Given the description of an element on the screen output the (x, y) to click on. 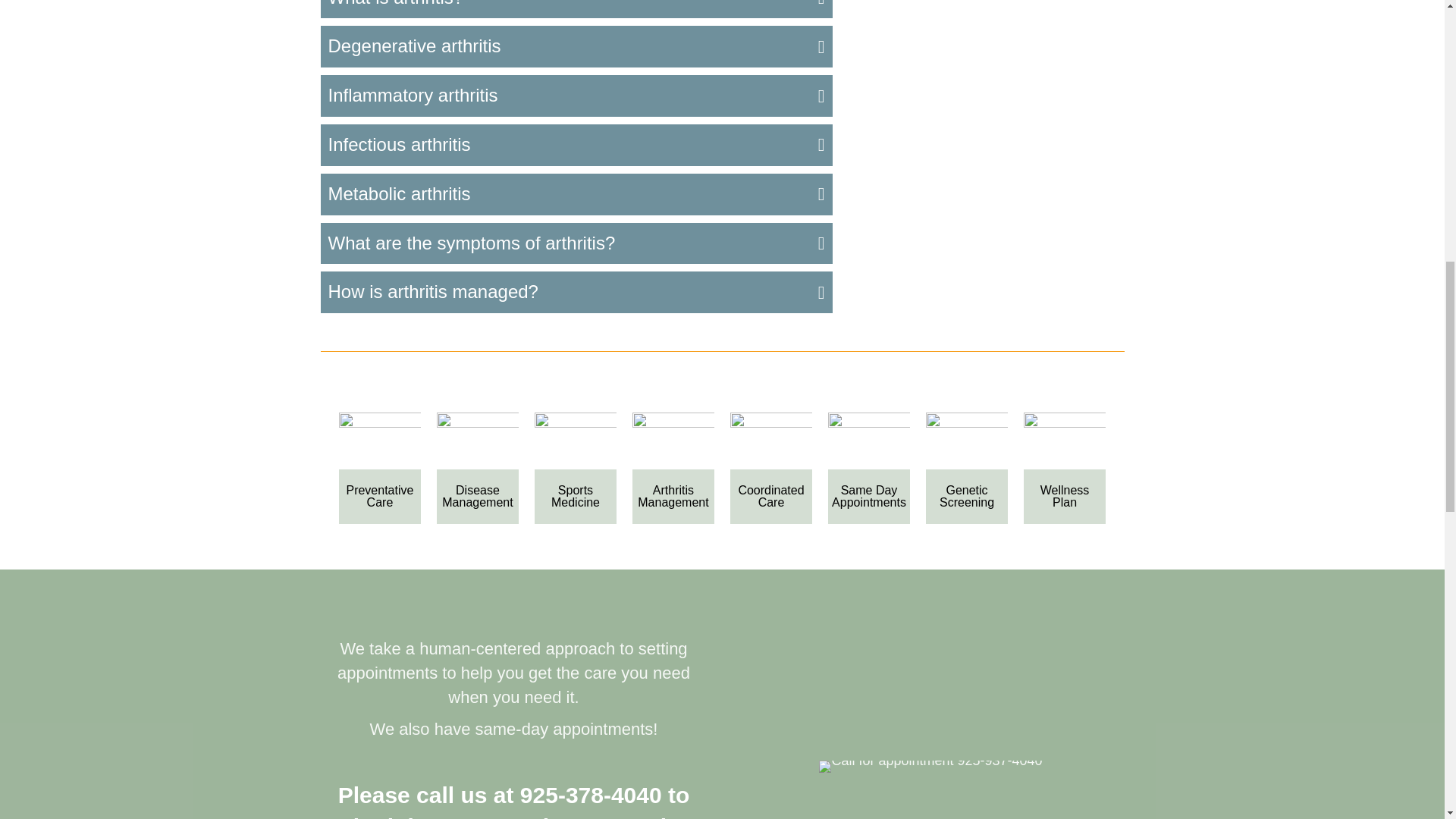
Coordinated Care (771, 440)
Same Day Appointments (869, 440)
Acute and Chronic Disease Management (477, 440)
Arthritis Management (672, 440)
prevention (380, 440)
Genetic Screening (967, 440)
Wellness Plan (1064, 440)
